Given the description of an element on the screen output the (x, y) to click on. 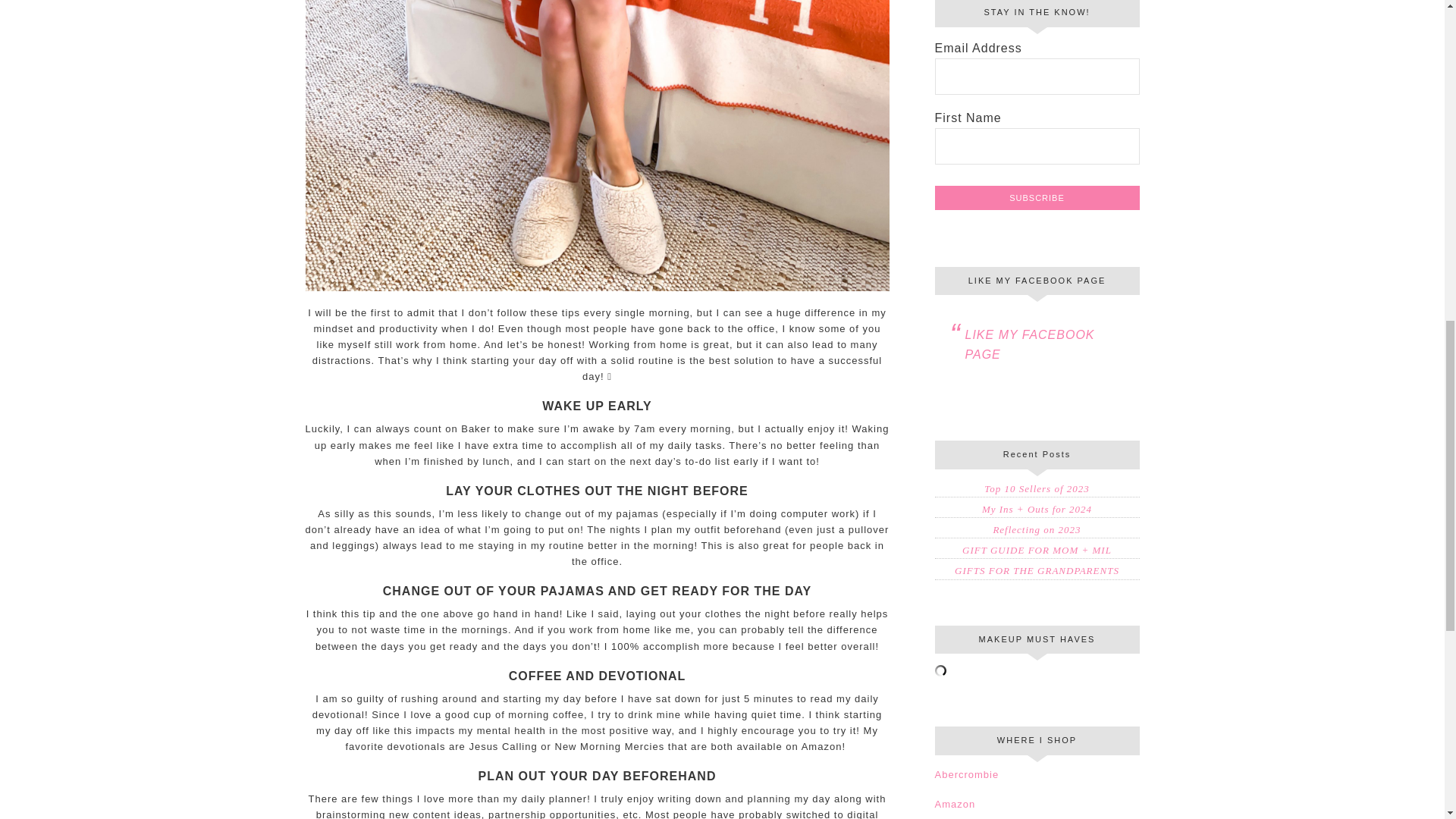
LIKE MY FACEBOOK PAGE (1037, 280)
Top 10 Sellers of 2023 (1036, 488)
Subscribe (1036, 197)
Subscribe (1036, 197)
LIKE MY FACEBOOK PAGE (1028, 344)
